Given the description of an element on the screen output the (x, y) to click on. 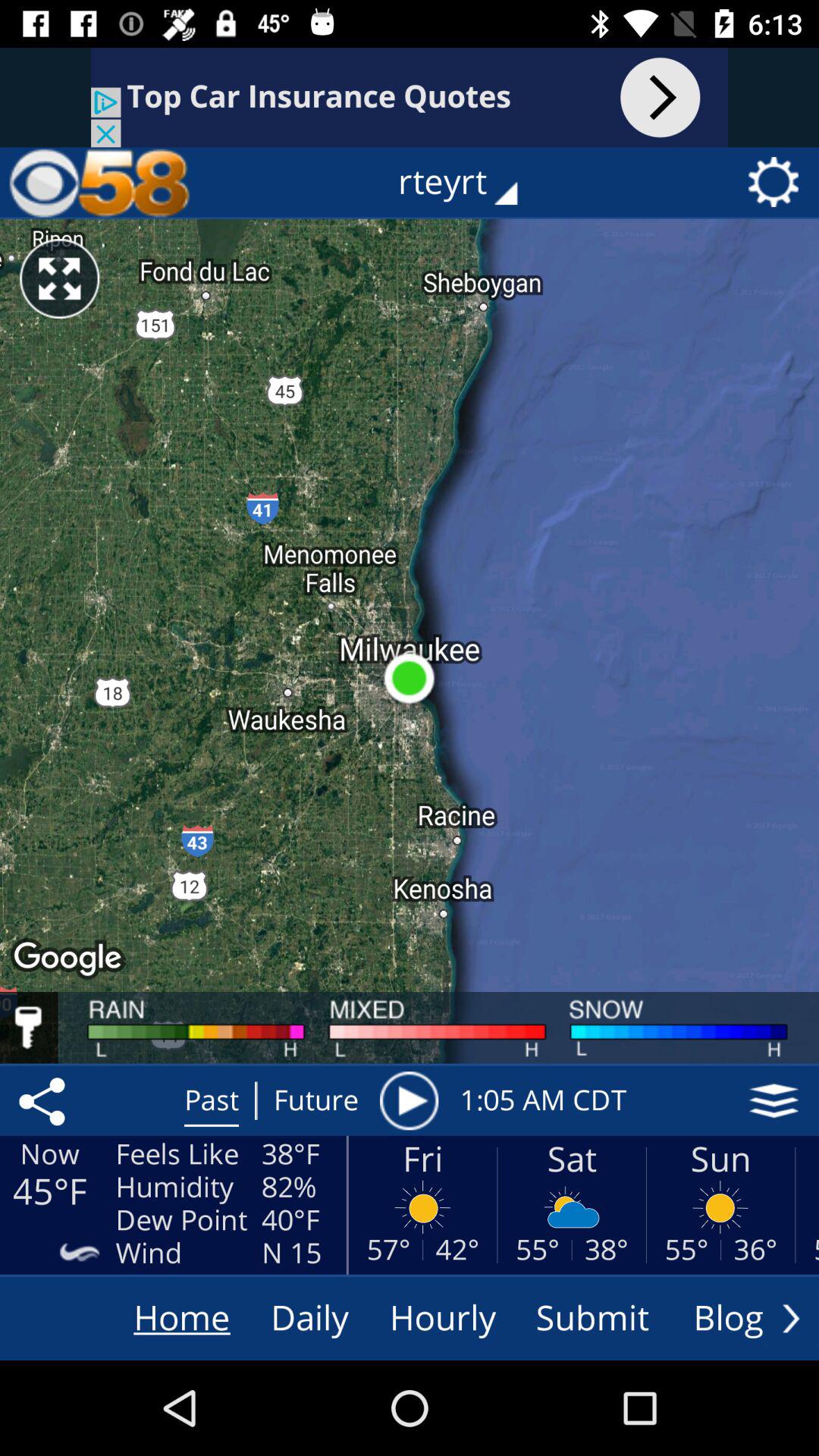
logotype (99, 182)
